Given the description of an element on the screen output the (x, y) to click on. 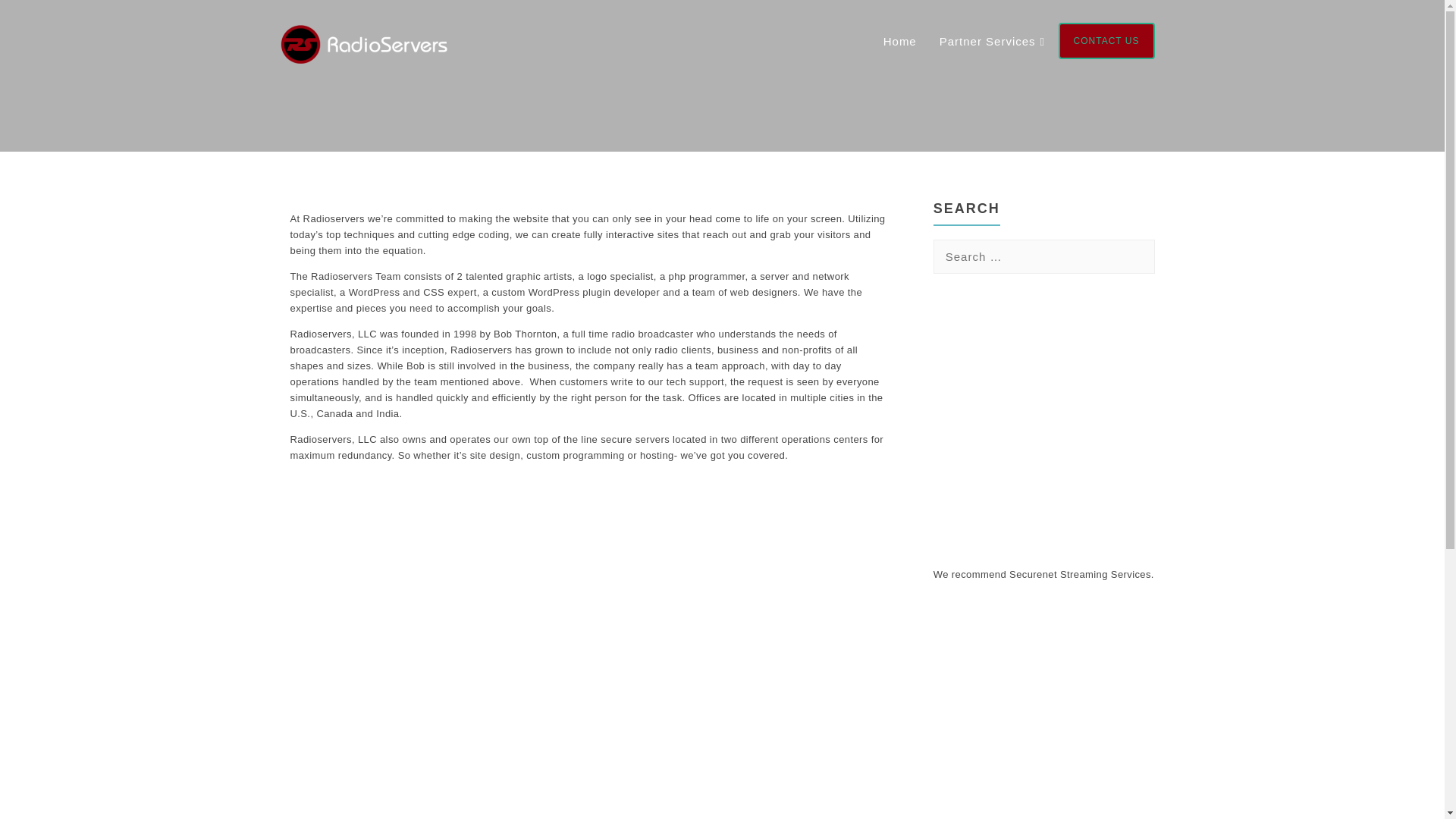
Search (29, 17)
Partner Services (987, 41)
We recommend Securenet Streaming Services. (1043, 573)
Advertisement (1046, 413)
CONTACT US (1106, 40)
